Given the description of an element on the screen output the (x, y) to click on. 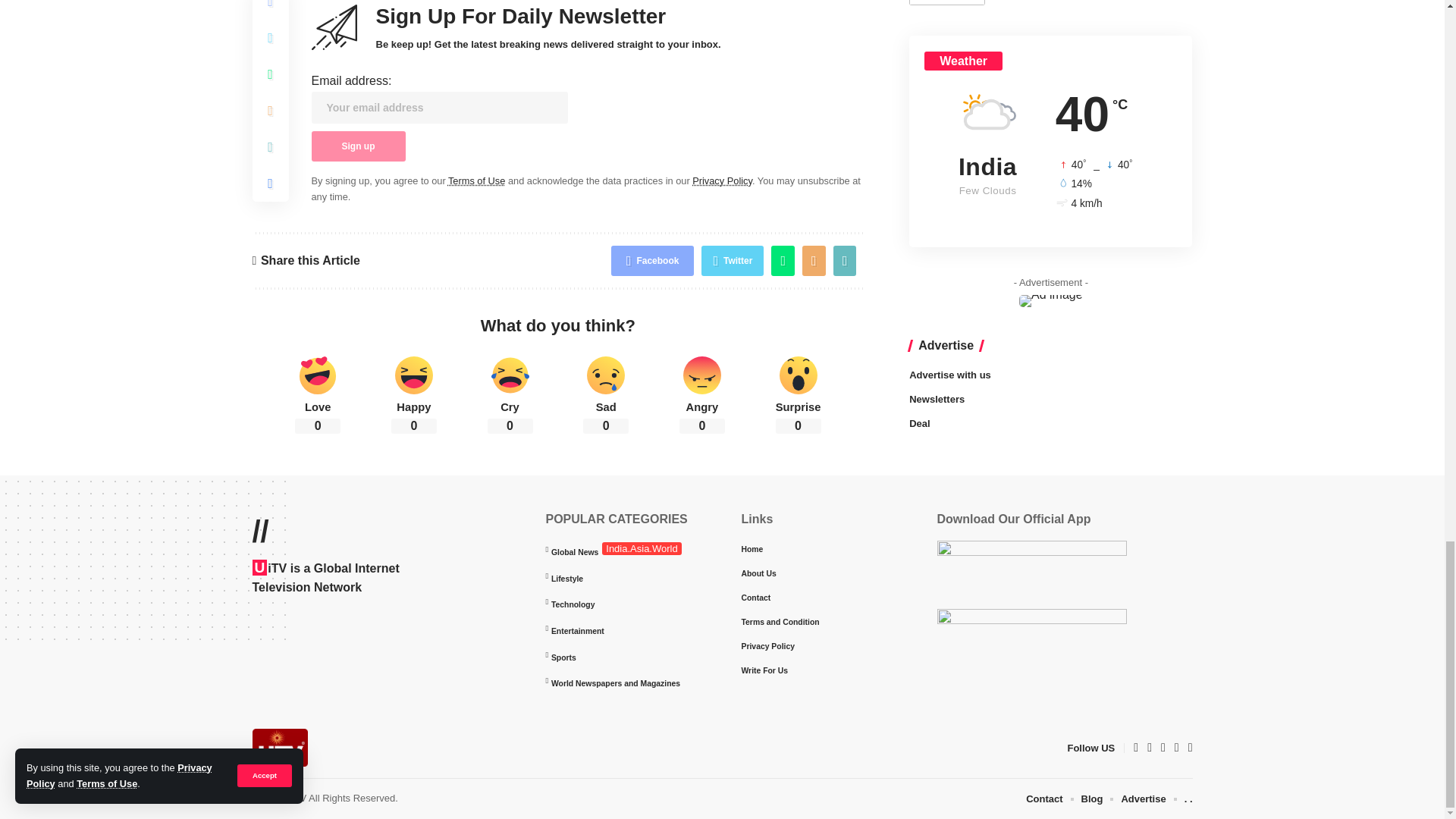
Sign up (357, 357)
